Given the description of an element on the screen output the (x, y) to click on. 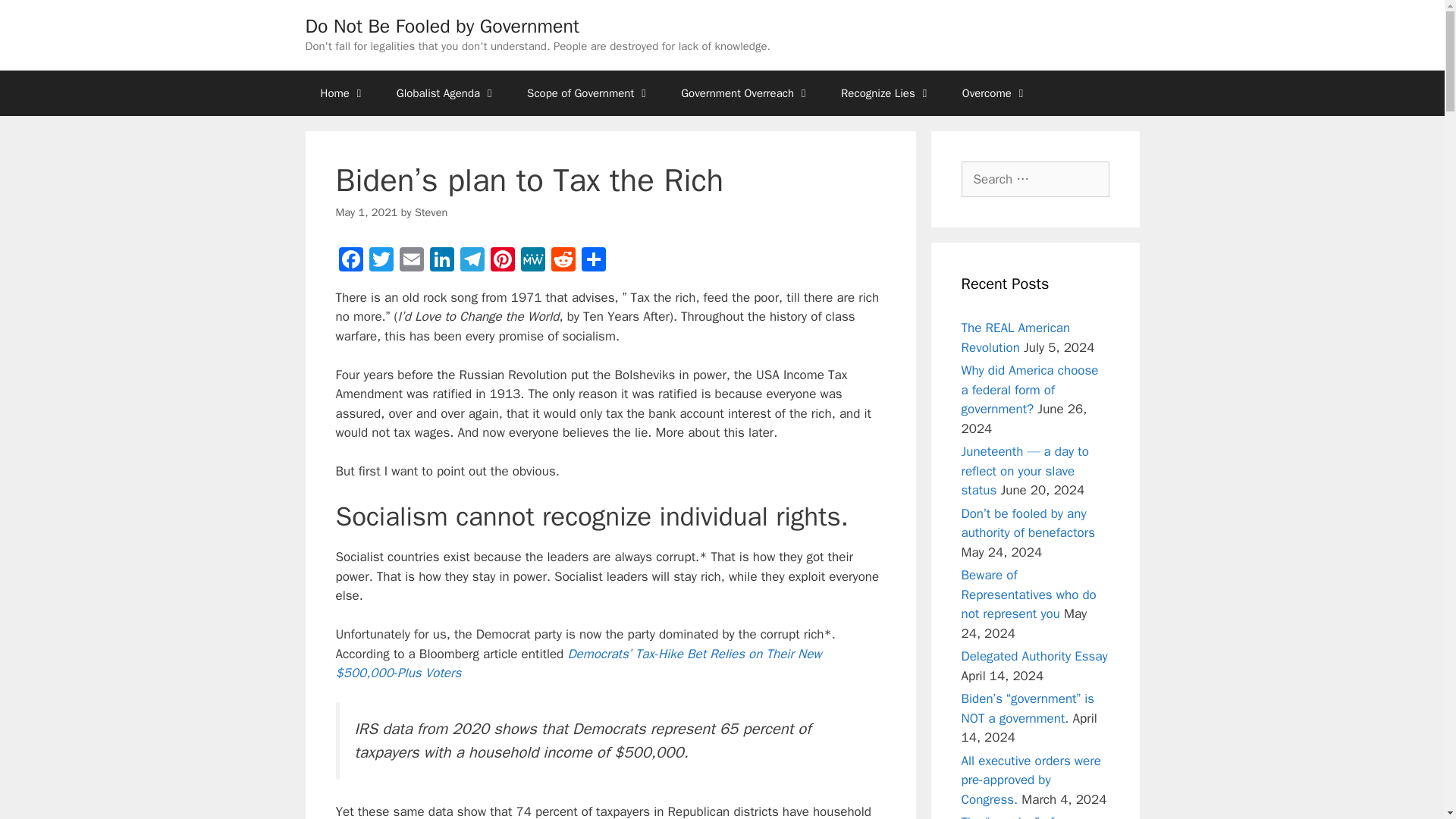
Email (411, 261)
Reddit (562, 261)
MeWe (531, 261)
Do Not Be Fooled by Government (441, 25)
Home (342, 92)
Twitter (380, 261)
Government Overreach (745, 92)
Telegram (471, 261)
View all posts by Steven (430, 212)
Pinterest (501, 261)
Facebook (349, 261)
Globalist Agenda (446, 92)
Scope of Government (588, 92)
LinkedIn (441, 261)
